Given the description of an element on the screen output the (x, y) to click on. 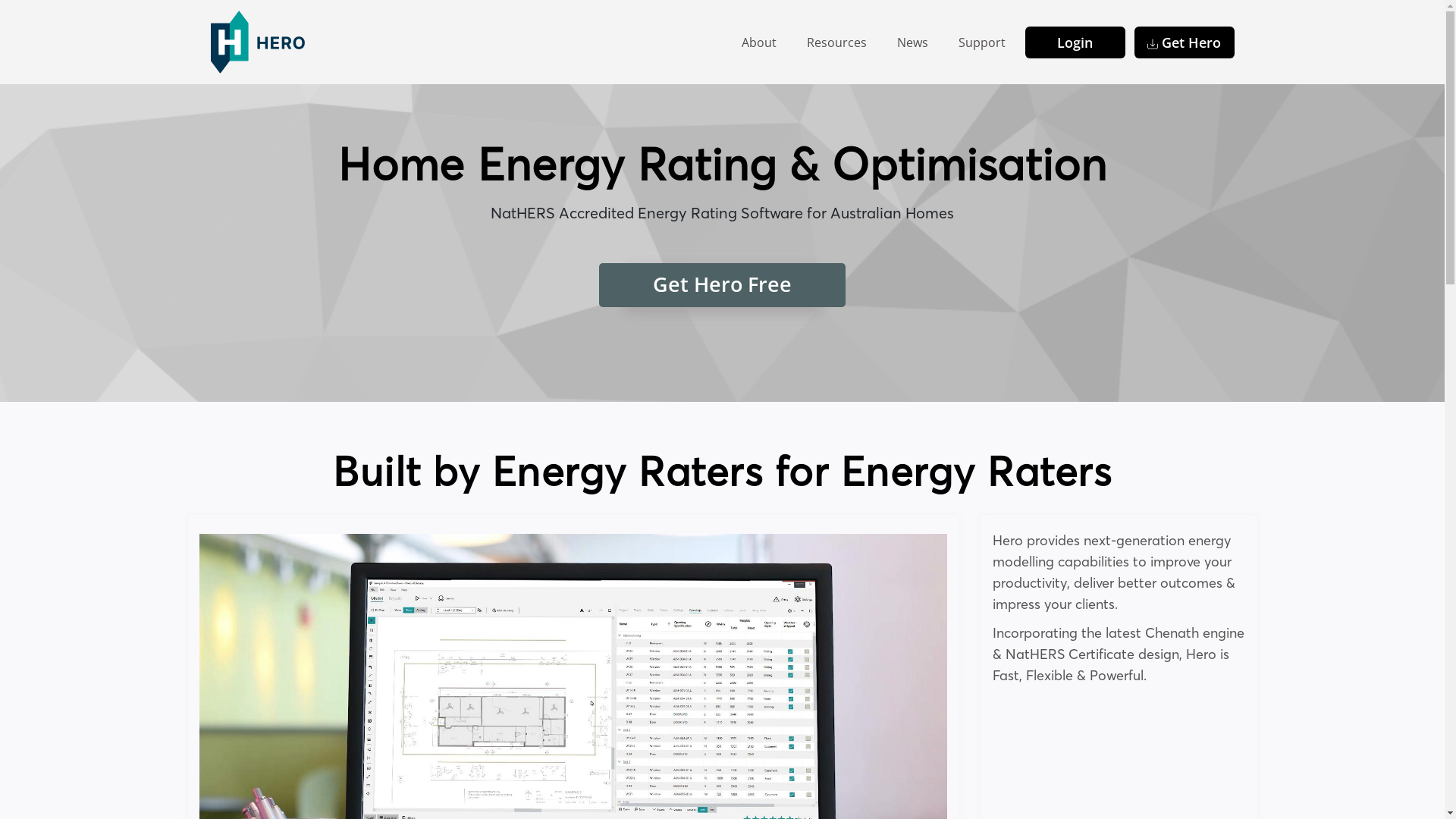
Login Element type: text (1075, 41)
Support Element type: text (981, 41)
Resources Element type: text (836, 41)
News Element type: text (911, 41)
Get Hero Element type: text (1184, 41)
Get Hero Free Element type: text (722, 284)
About Element type: text (758, 41)
